Given the description of an element on the screen output the (x, y) to click on. 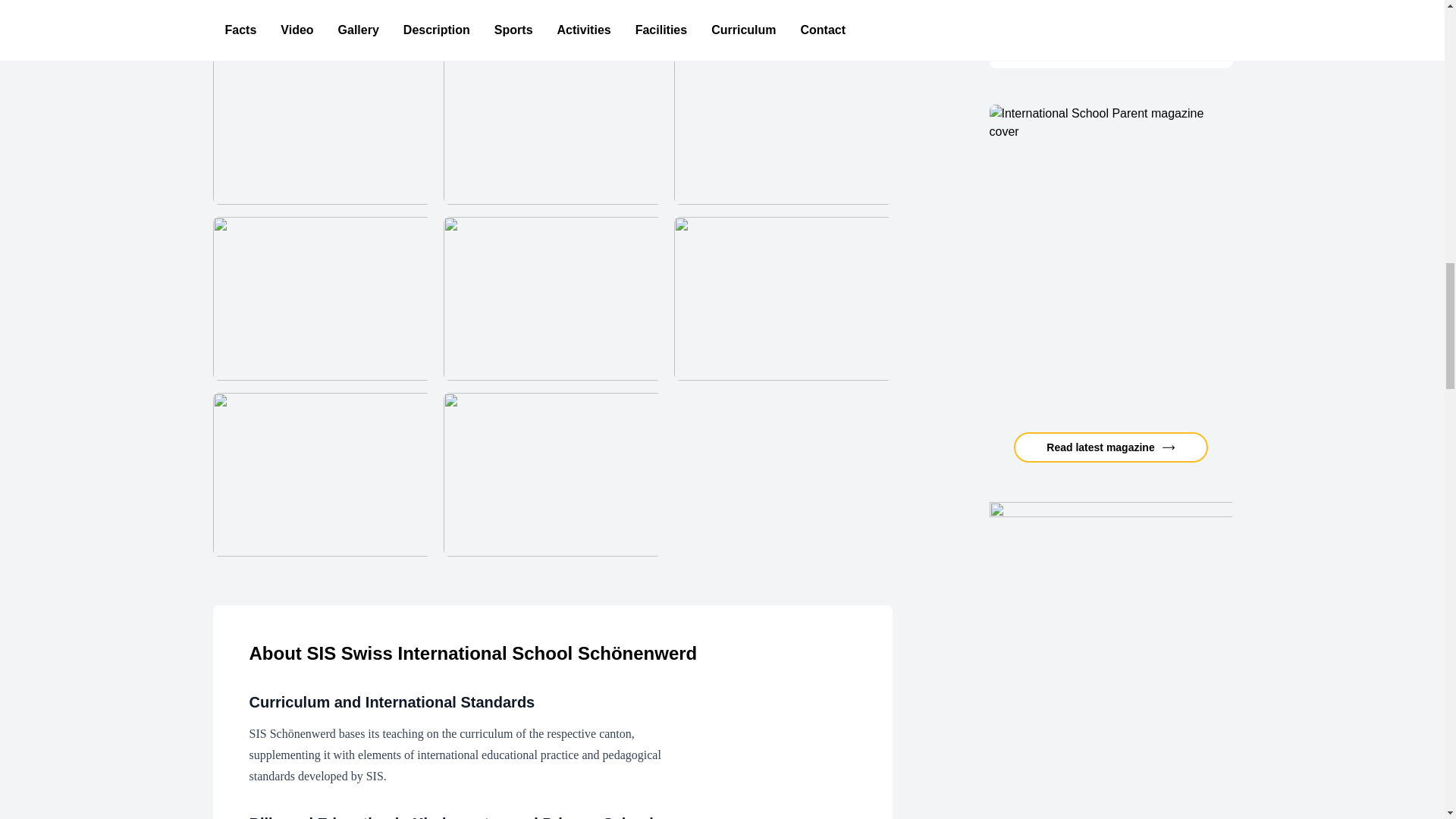
privacy policy (1119, 37)
Subscribe (1110, 12)
Subscribe (1110, 12)
